Given the description of an element on the screen output the (x, y) to click on. 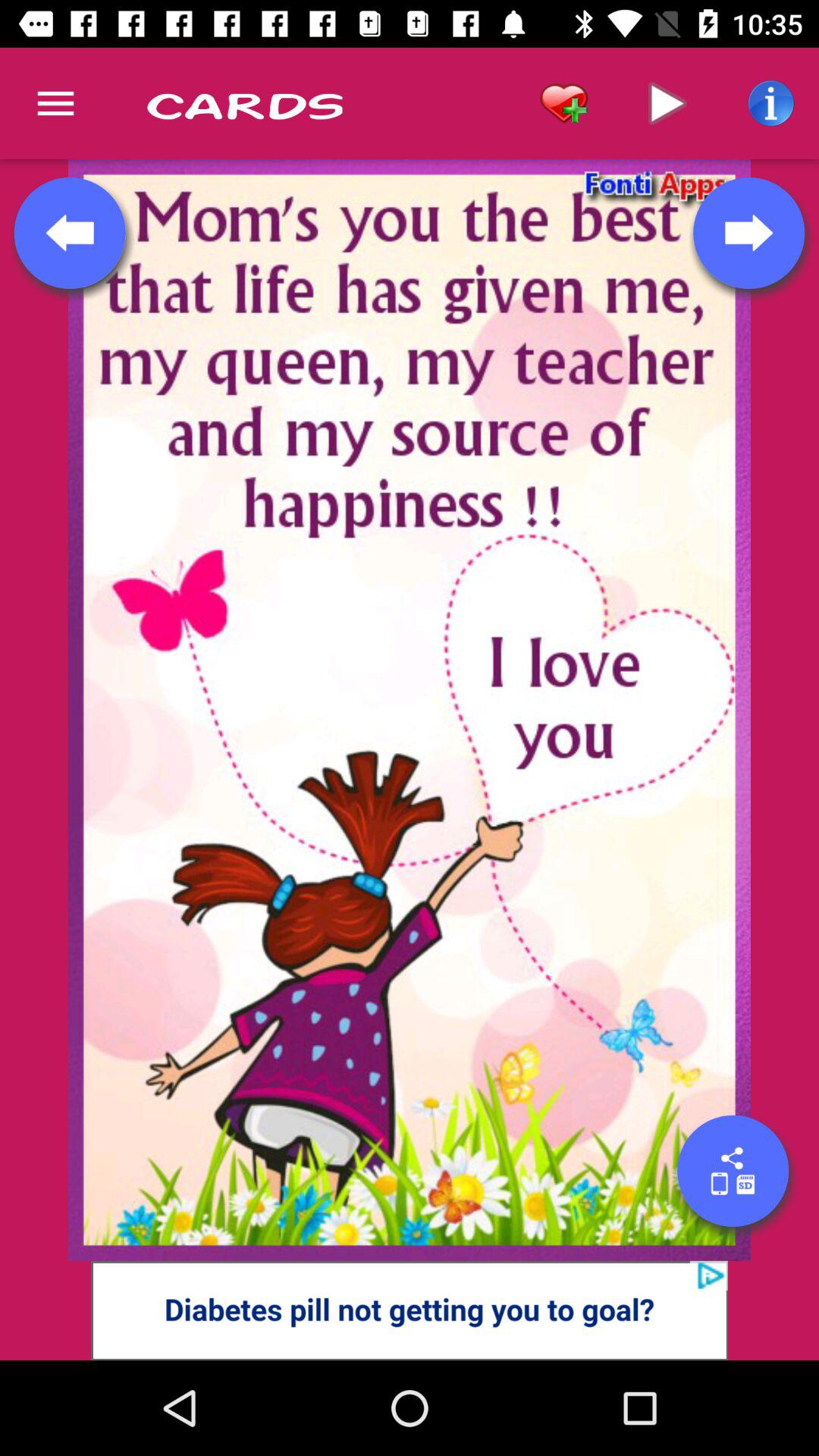
share (733, 1171)
